Given the description of an element on the screen output the (x, y) to click on. 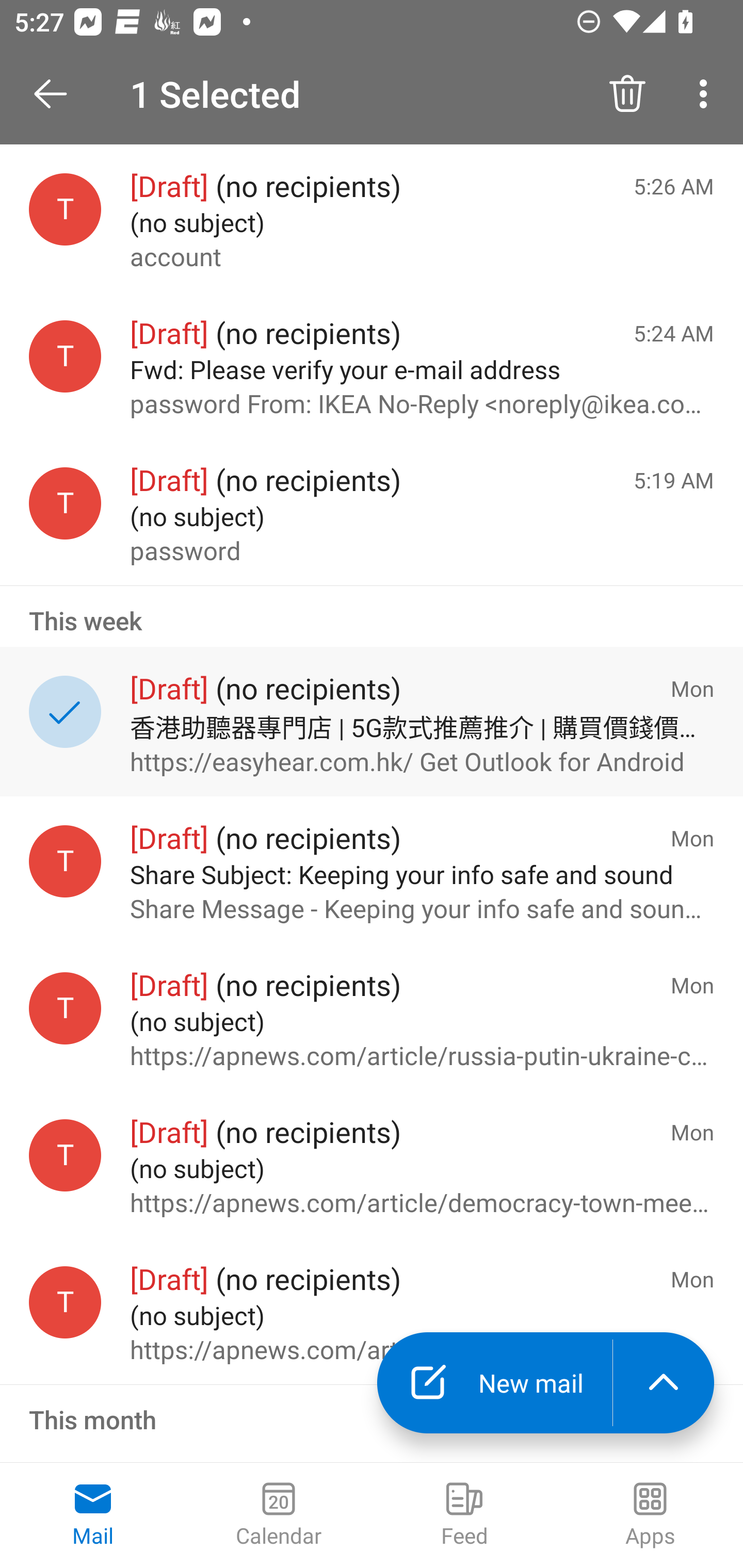
Delete (626, 93)
More options (706, 93)
Open Navigation Drawer (57, 94)
testappium002@outlook.com (64, 210)
testappium002@outlook.com (64, 355)
testappium002@outlook.com (64, 503)
testappium002@outlook.com (64, 860)
testappium002@outlook.com (64, 1008)
testappium002@outlook.com (64, 1155)
testappium002@outlook.com (64, 1302)
New mail (494, 1382)
launch the extended action menu (663, 1382)
Calendar (278, 1515)
Feed (464, 1515)
Apps (650, 1515)
